Given the description of an element on the screen output the (x, y) to click on. 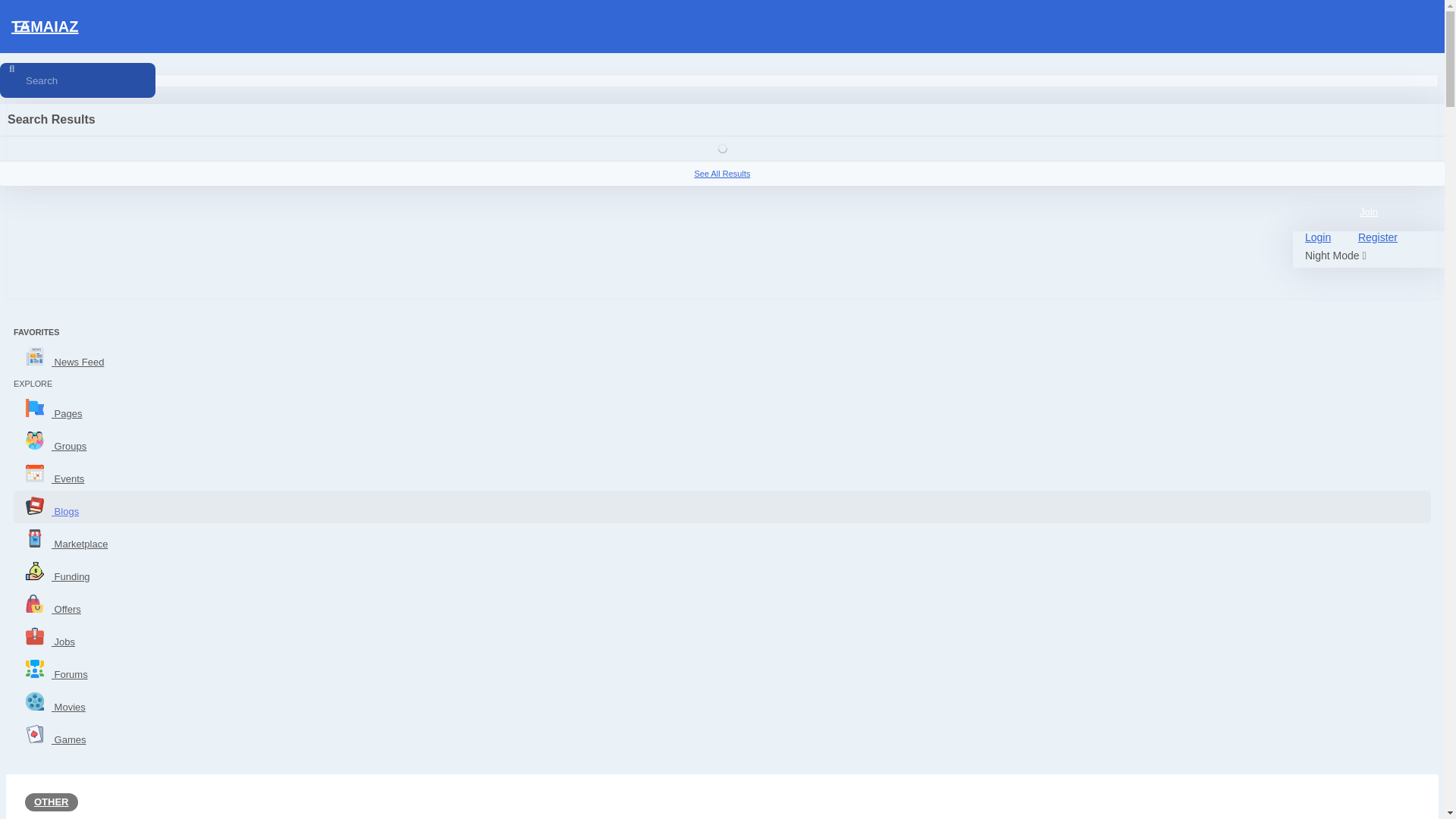
Pages (722, 409)
Groups (722, 441)
OTHER (51, 802)
Blogs (722, 506)
TAMAIAZ (720, 26)
Funding (722, 572)
Movies (722, 702)
Login (1317, 237)
Events (722, 473)
Games (722, 735)
News Feed (722, 357)
Forums (722, 669)
Marketplace (722, 539)
Offers (722, 604)
